Given the description of an element on the screen output the (x, y) to click on. 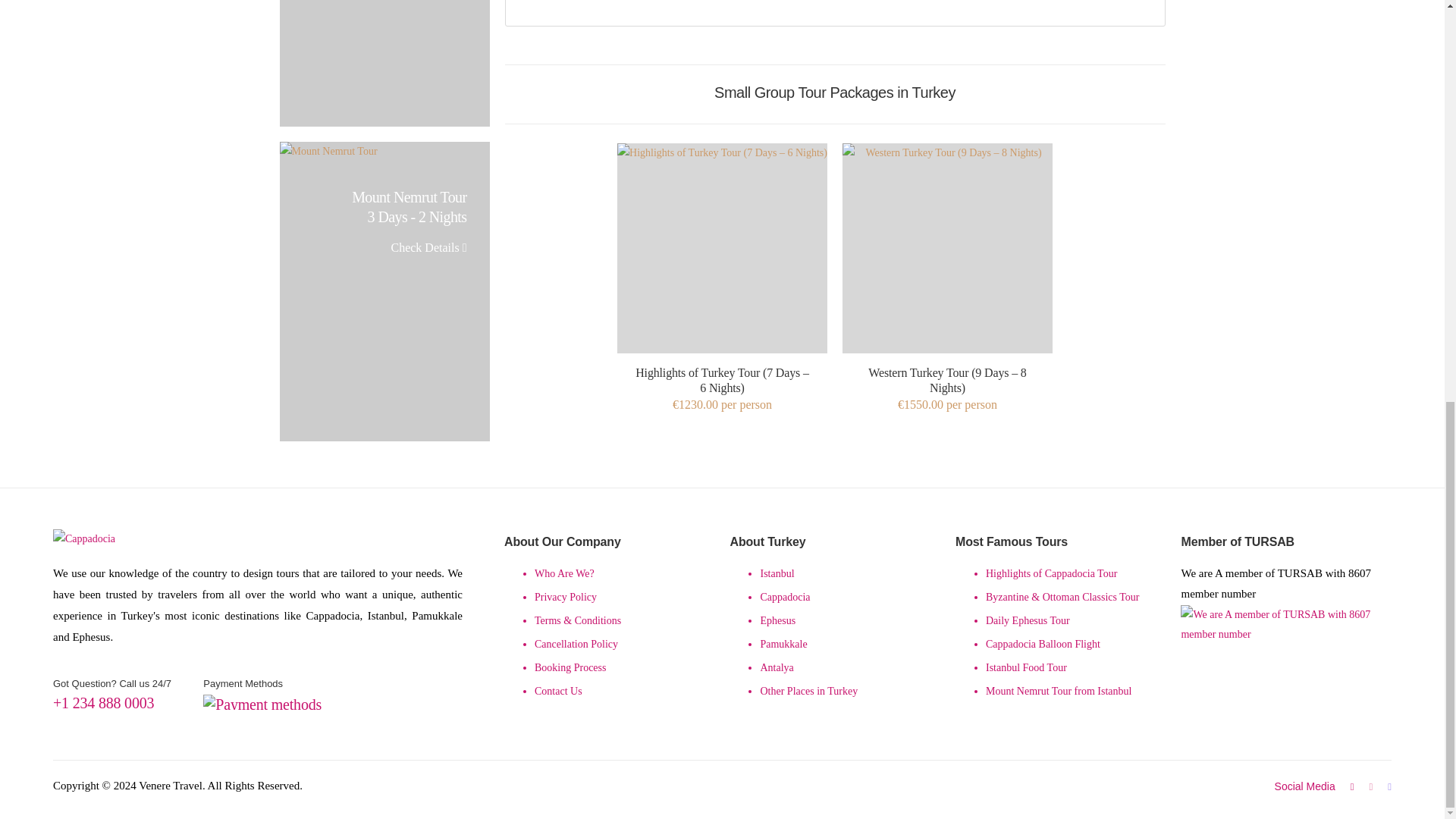
We are A member of TURSAB with 8607 member number (1285, 653)
Eastern Turkey Tour (384, 63)
Cappadocia and Turkey Tours (92, 538)
